Given the description of an element on the screen output the (x, y) to click on. 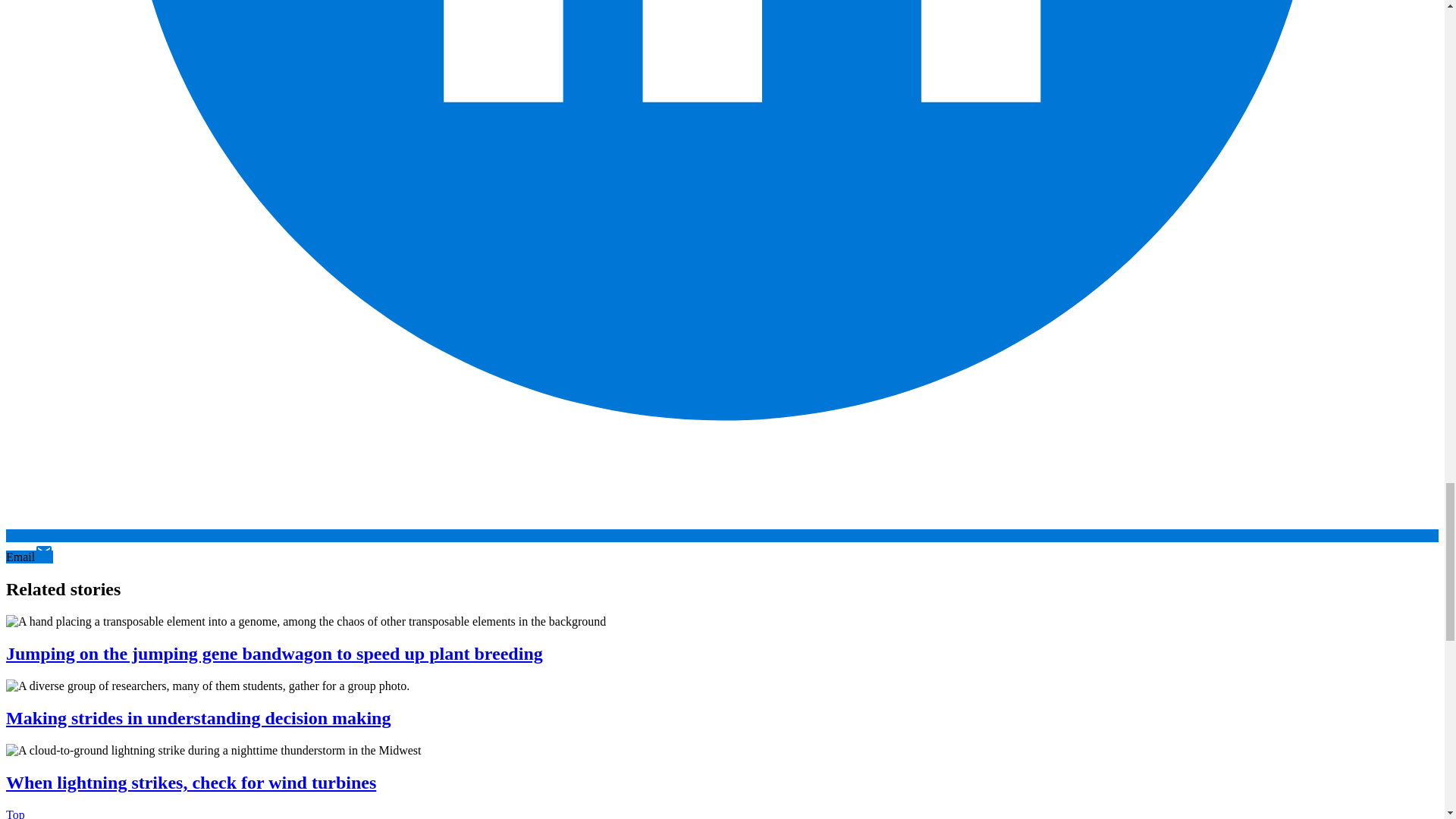
Email (28, 556)
Top (14, 813)
Making strides in understanding decision making (197, 718)
When lightning strikes, check for wind turbines (190, 782)
